Given the description of an element on the screen output the (x, y) to click on. 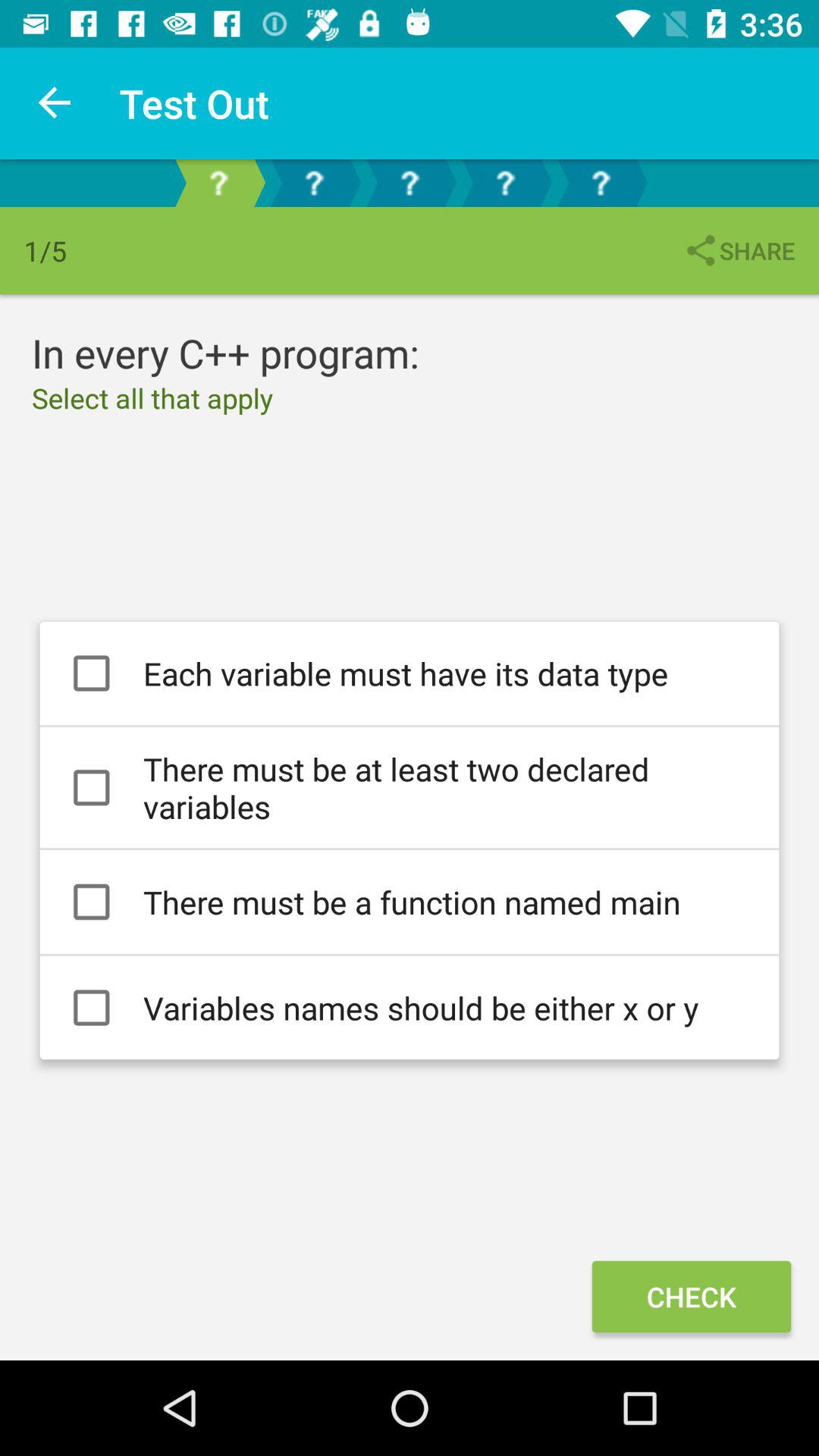
click on the right most question mark (600, 182)
select the question mark icon (504, 182)
select the  question mark icon (313, 182)
